Given the description of an element on the screen output the (x, y) to click on. 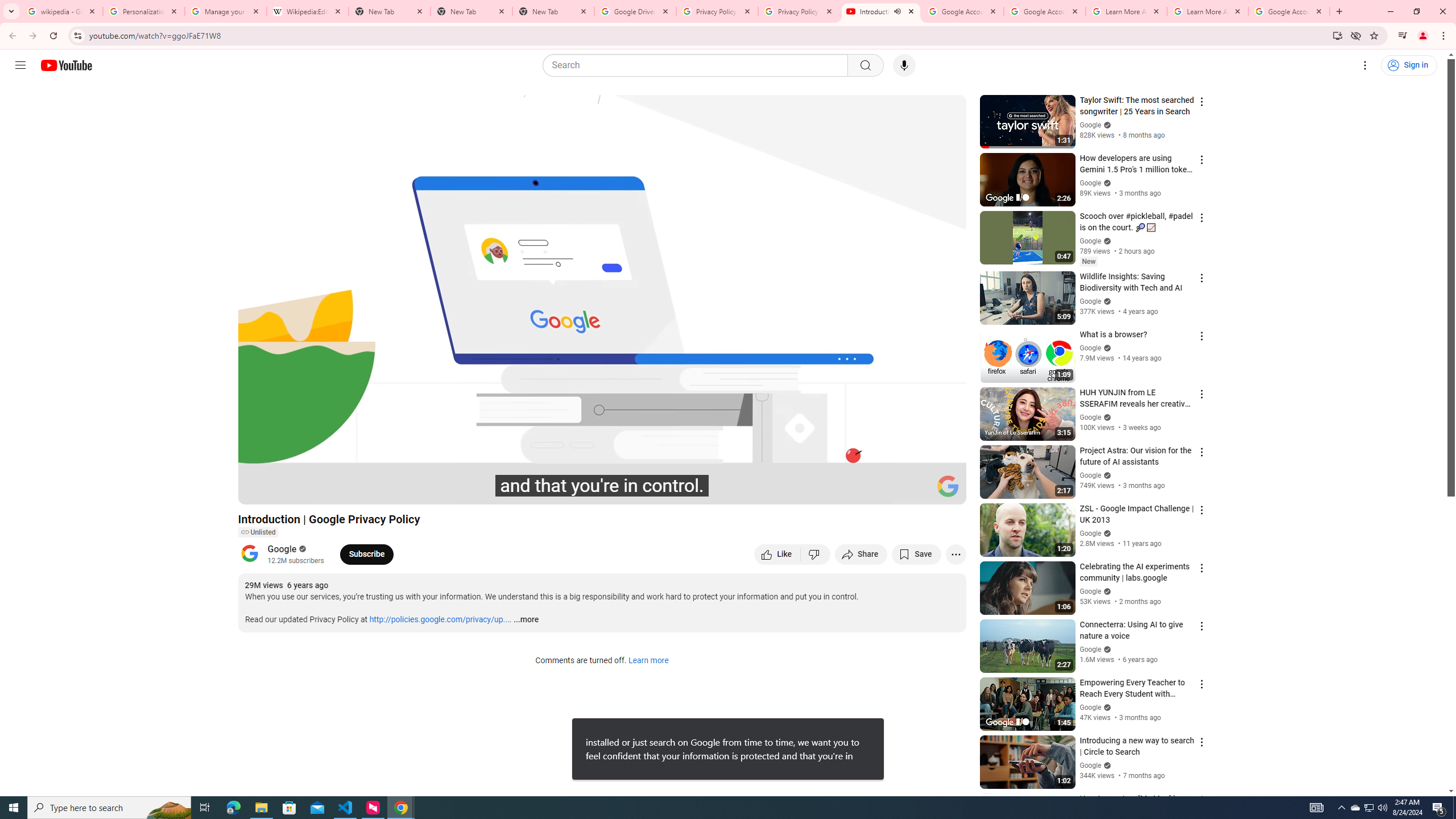
Channel watermark (947, 486)
Google Drive: Sign-in (635, 11)
Subtitles/closed captions unavailable (836, 490)
Channel watermark (947, 486)
